Given the description of an element on the screen output the (x, y) to click on. 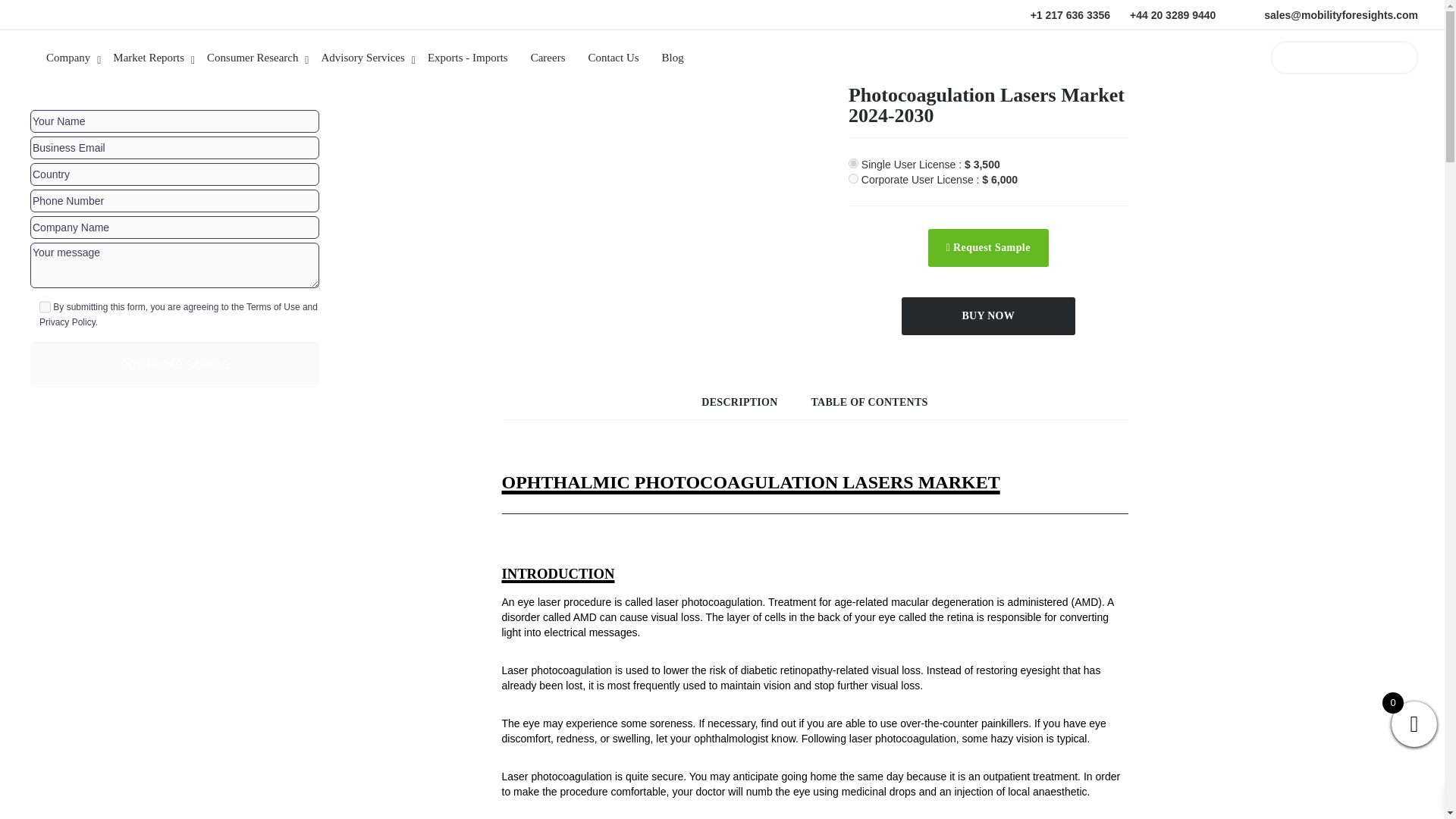
6000 (853, 178)
Company (75, 59)
3500 (853, 163)
DOWNLOAD SAMPLE (174, 364)
Market Reports (156, 59)
